Given the description of an element on the screen output the (x, y) to click on. 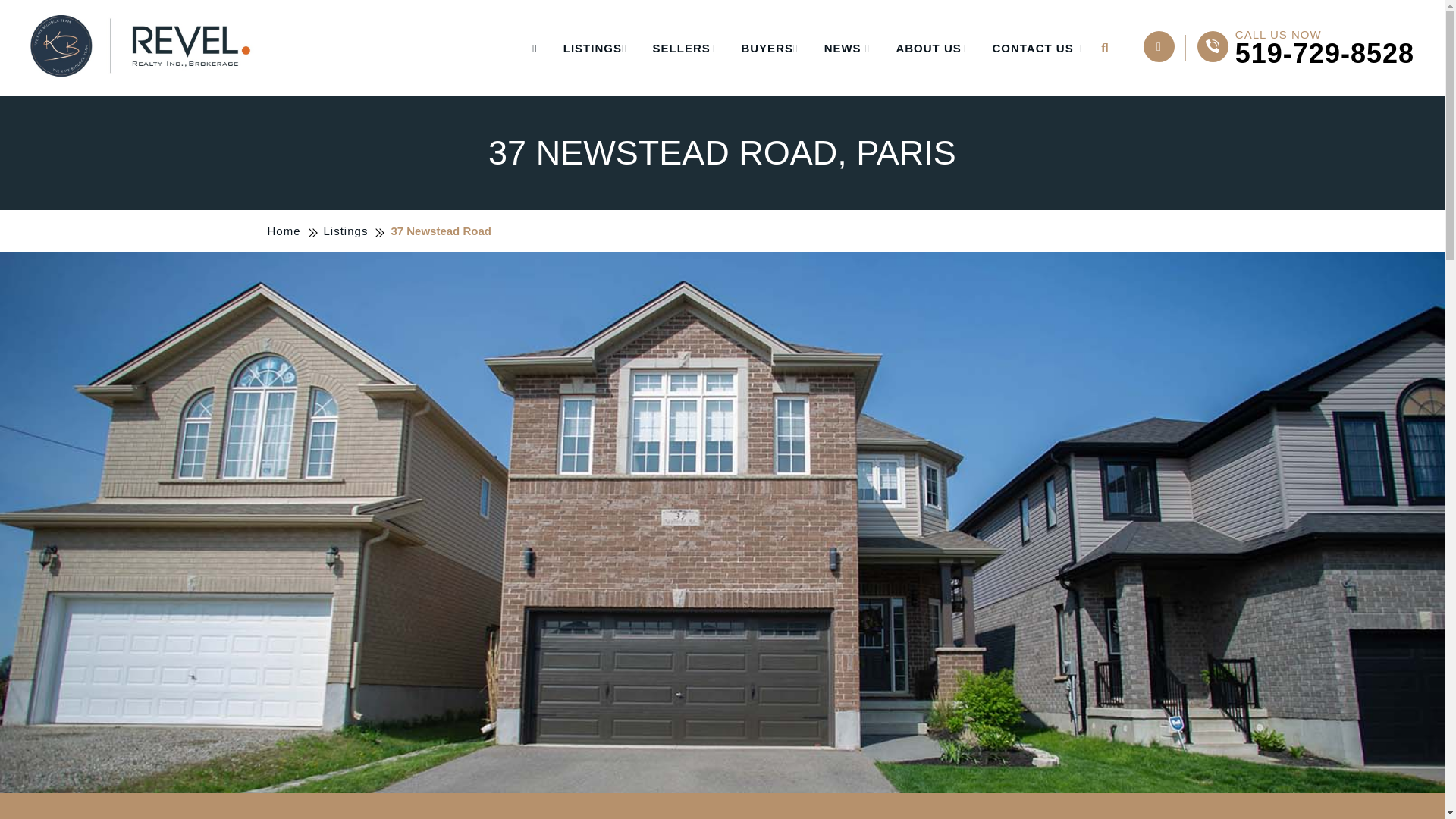
ABOUT US (930, 48)
Brantford Realtors - Team Kate (143, 48)
SELLERS (684, 48)
Listings (345, 230)
NEWS (847, 48)
BUYERS (769, 48)
Listings (345, 230)
LISTINGS (595, 48)
Home (1304, 47)
